Given the description of an element on the screen output the (x, y) to click on. 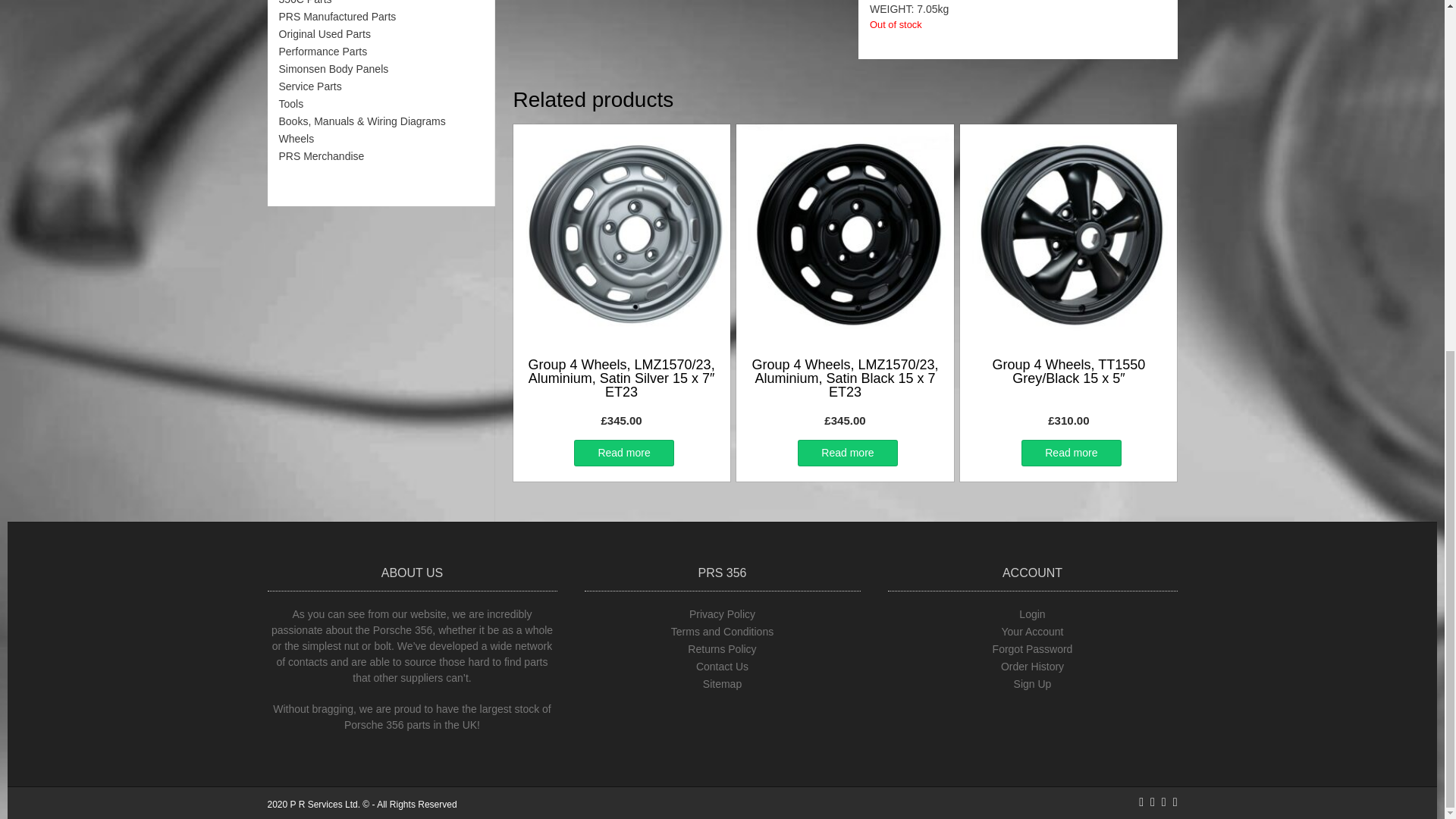
Simonsen Body Panels (333, 69)
Read more (622, 452)
Original Used Parts (325, 33)
Read more (1071, 452)
Read more (846, 452)
Service Parts (310, 86)
PRS Manufactured Parts (337, 16)
356C Parts (305, 2)
Performance Parts (323, 51)
Tools (291, 103)
